Given the description of an element on the screen output the (x, y) to click on. 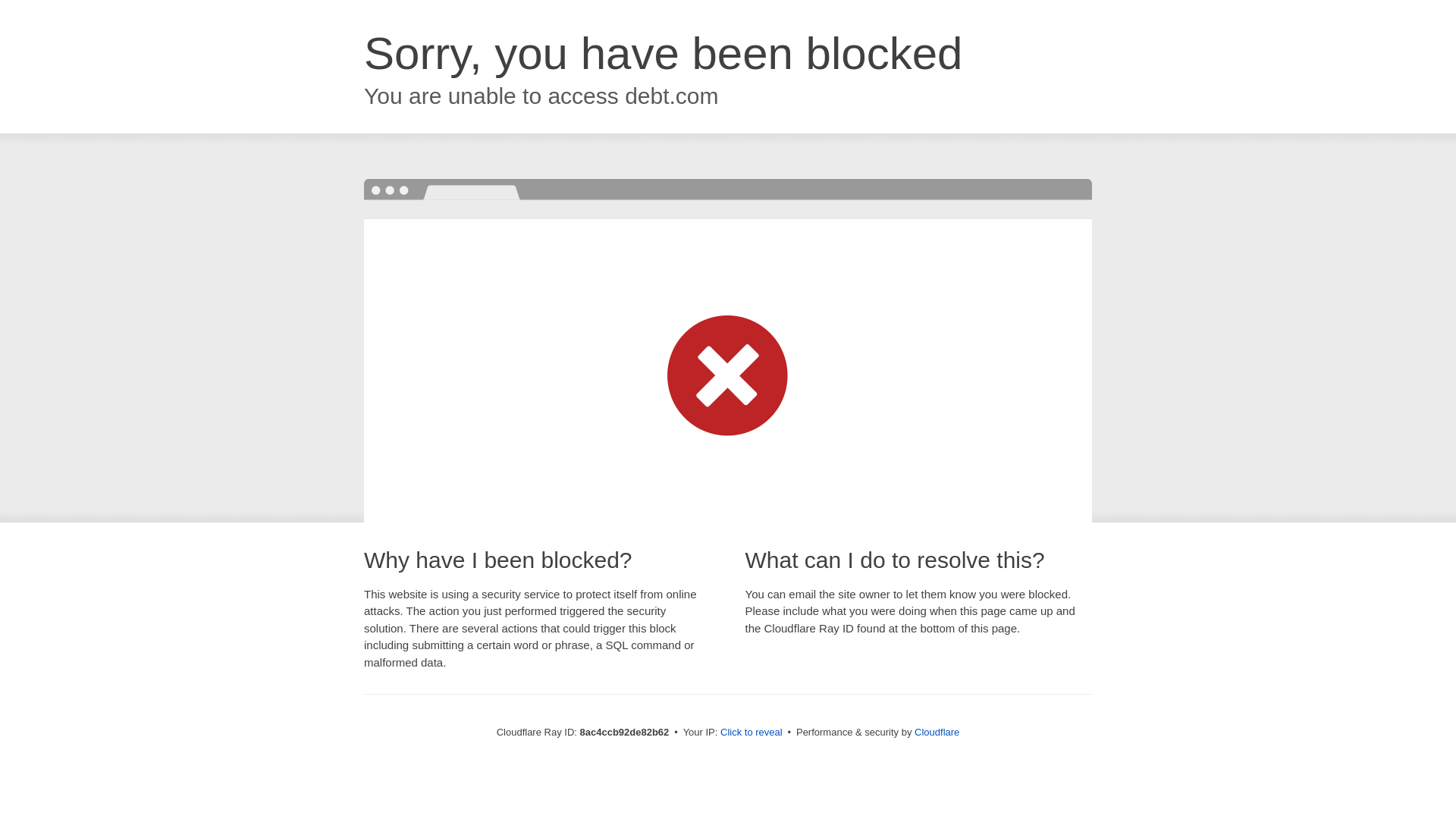
Click to reveal (751, 732)
Cloudflare (936, 731)
